Given the description of an element on the screen output the (x, y) to click on. 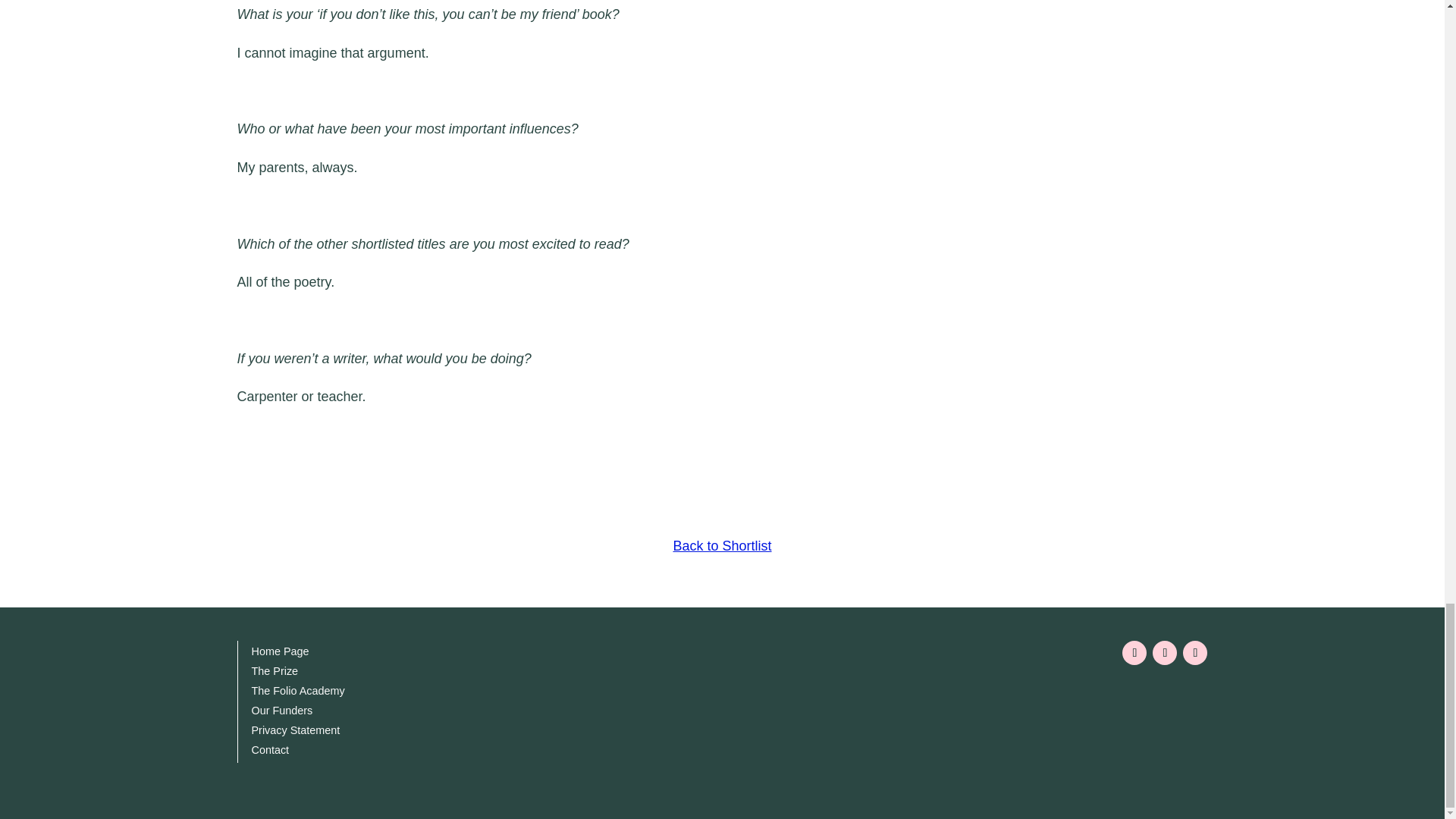
Follow on Youtube (1164, 652)
Follow on Instagram (1134, 652)
Follow on X (1194, 652)
